Given the description of an element on the screen output the (x, y) to click on. 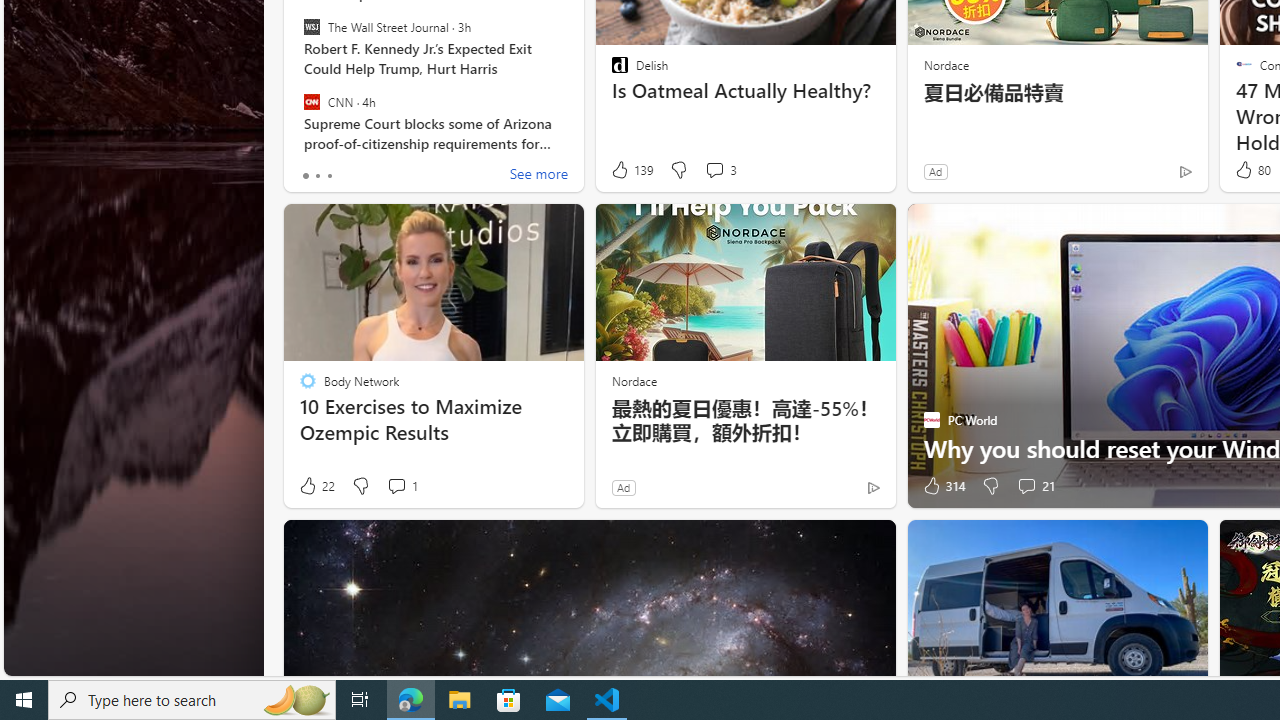
View comments 21 Comment (1035, 485)
View comments 3 Comment (720, 170)
80 Like (1251, 170)
Ad (623, 487)
tab-2 (328, 175)
Dislike (989, 485)
The Wall Street Journal (311, 27)
View comments 1 Comment (401, 485)
